Given the description of an element on the screen output the (x, y) to click on. 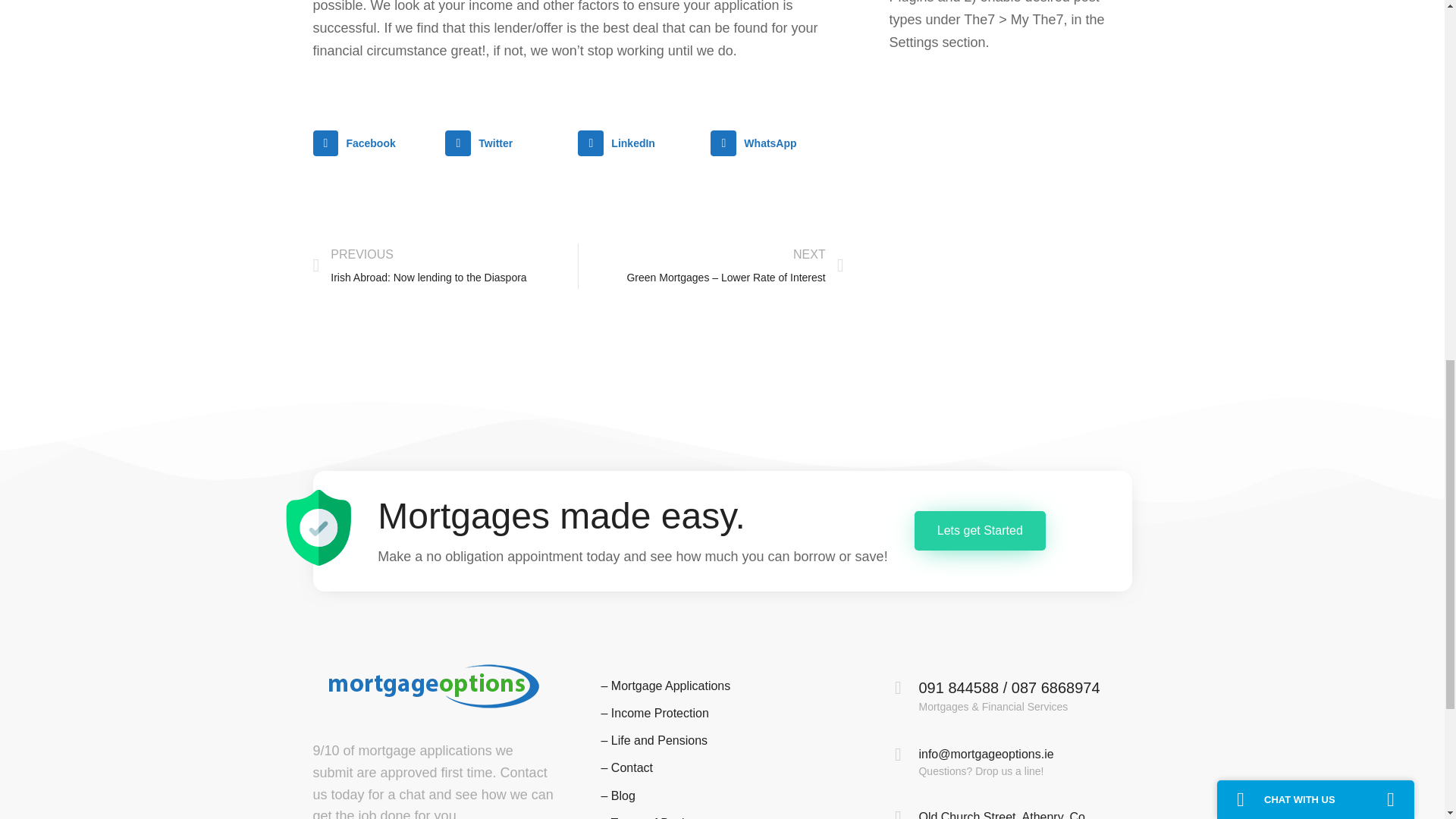
Lets get Started (979, 530)
